Given the description of an element on the screen output the (x, y) to click on. 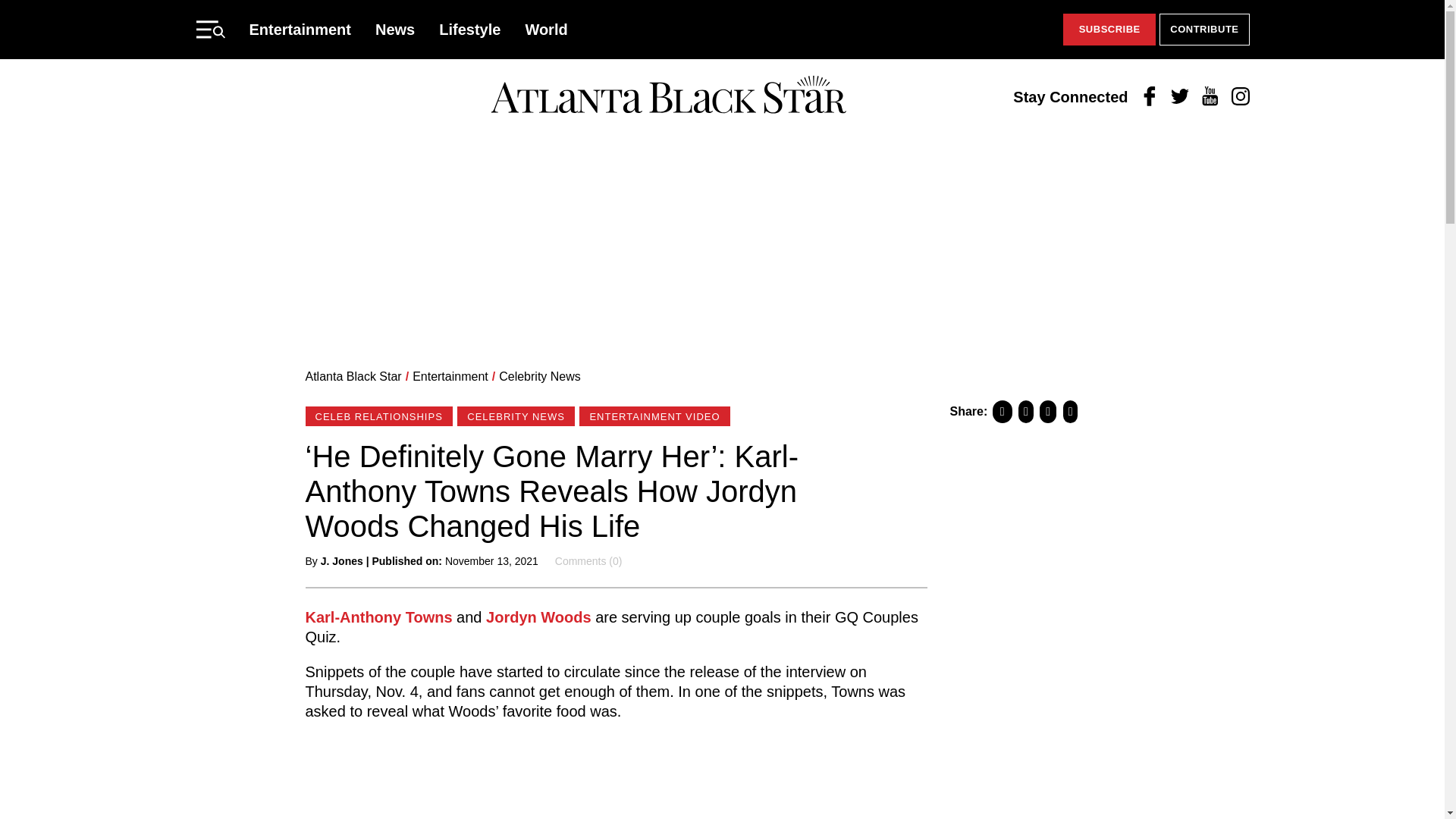
Go to Atlanta Black Star. (352, 376)
Atlanta Black Star (667, 96)
SUBSCRIBE (1109, 29)
News (394, 29)
Entertainment (449, 376)
Entertainment (299, 29)
Lifestyle (469, 29)
Celebrity News (539, 376)
Atlanta Black Star (352, 376)
CELEBRITY NEWS (516, 415)
